Given the description of an element on the screen output the (x, y) to click on. 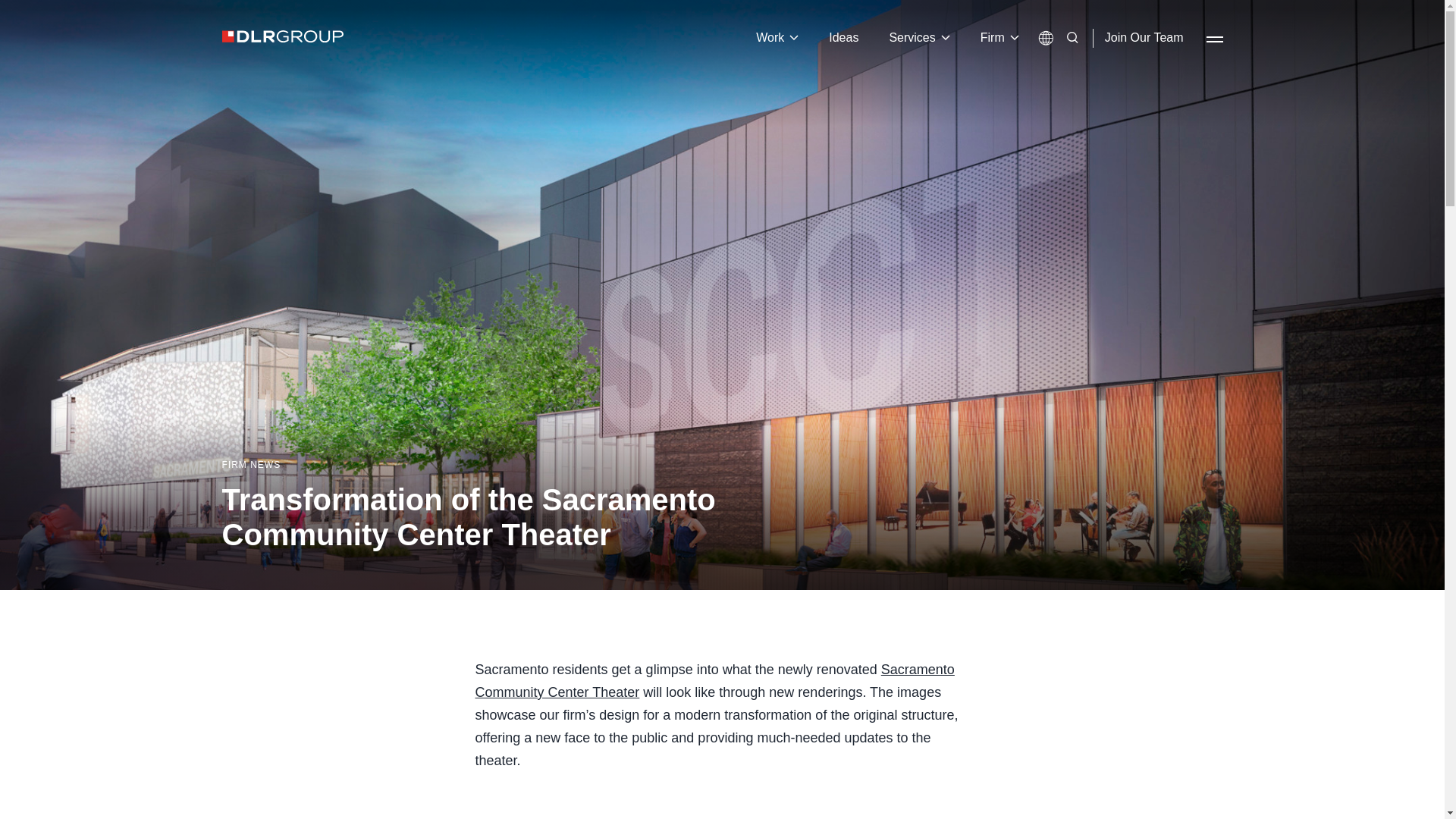
Services (918, 37)
Firm (999, 37)
Join Our Team (1144, 37)
Ideas (843, 37)
Work (776, 37)
